Given the description of an element on the screen output the (x, y) to click on. 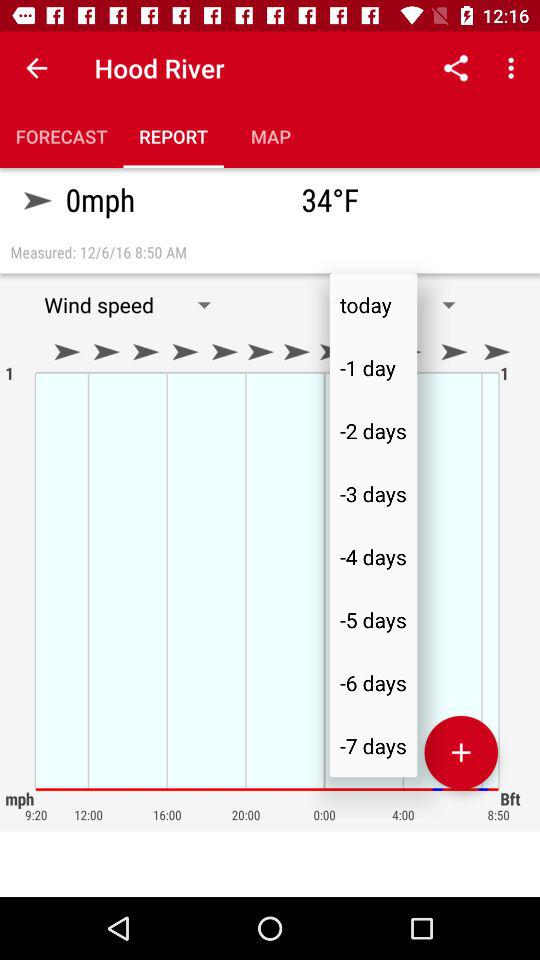
add icon (461, 752)
